Given the description of an element on the screen output the (x, y) to click on. 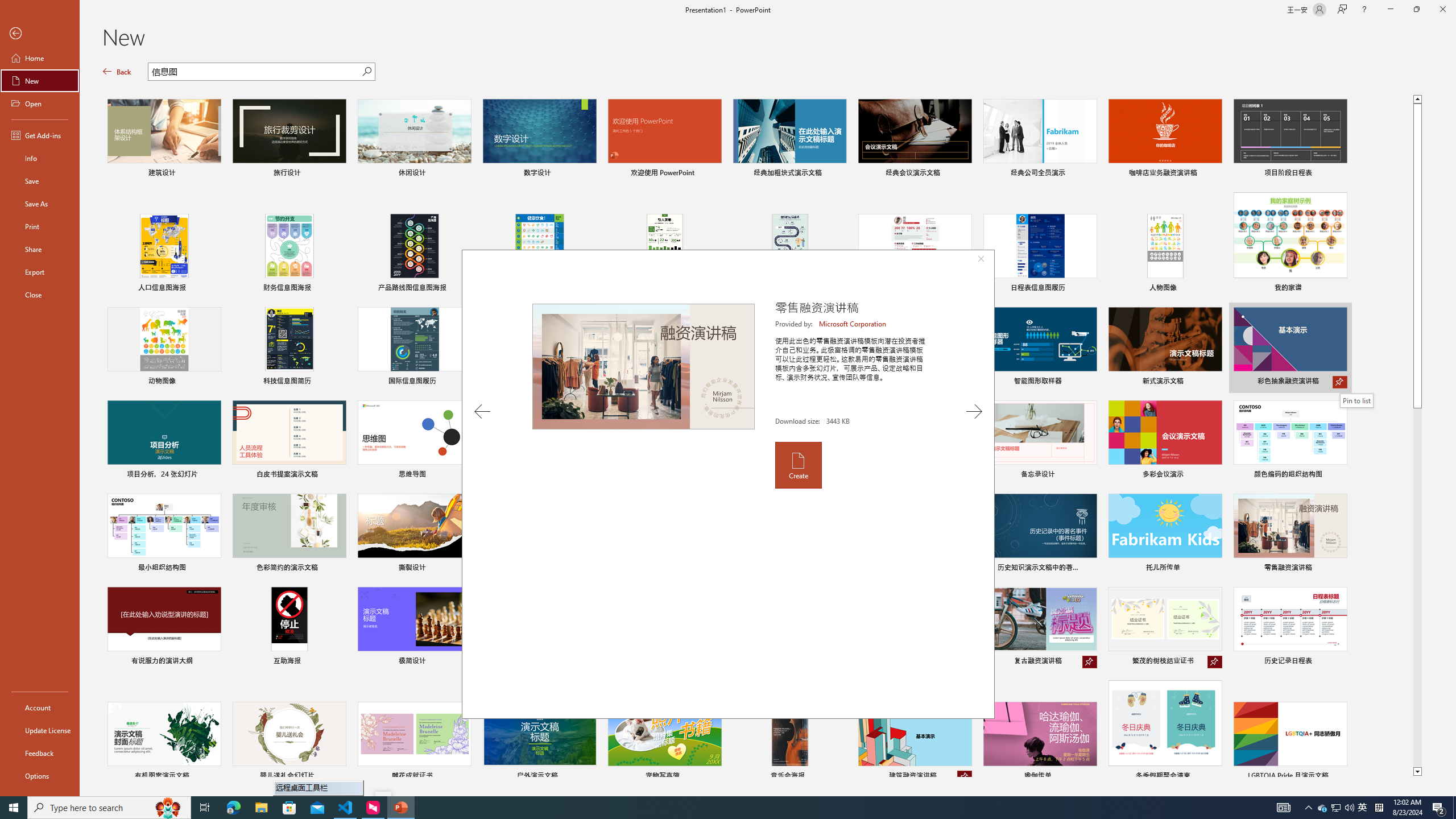
Back (117, 71)
Account (40, 707)
